Given the description of an element on the screen output the (x, y) to click on. 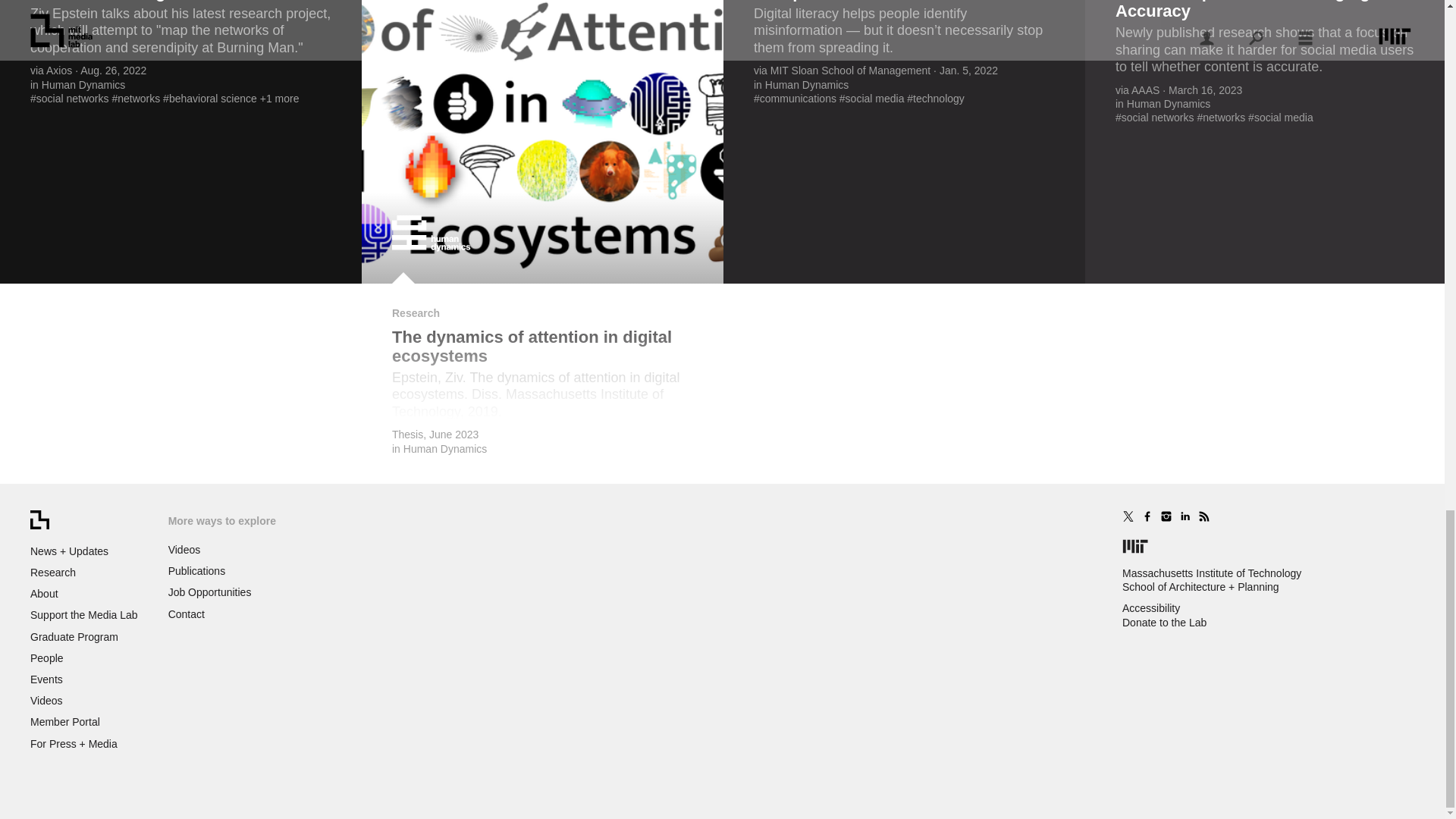
Human Dynamics (83, 84)
Axios (58, 70)
Human Dynamics (444, 449)
